Given the description of an element on the screen output the (x, y) to click on. 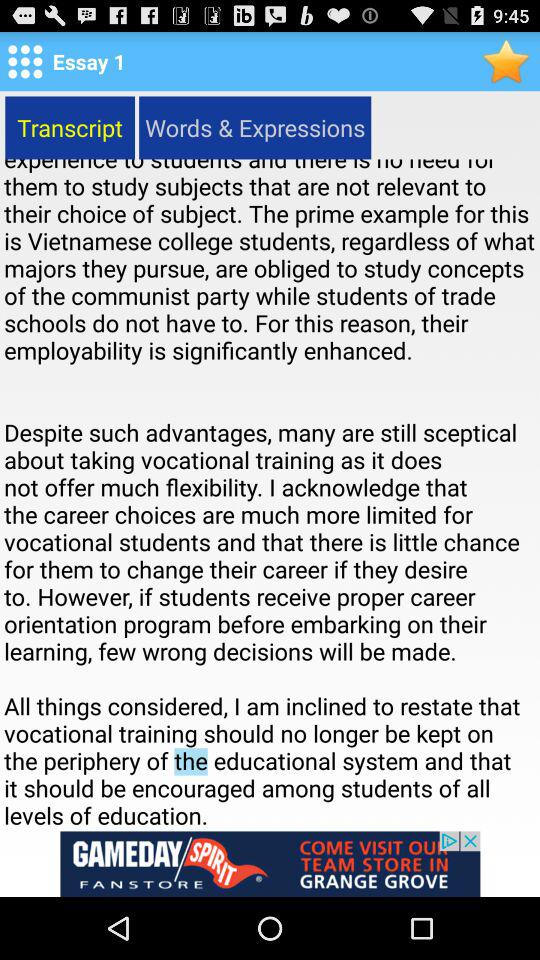
star rating (506, 60)
